Given the description of an element on the screen output the (x, y) to click on. 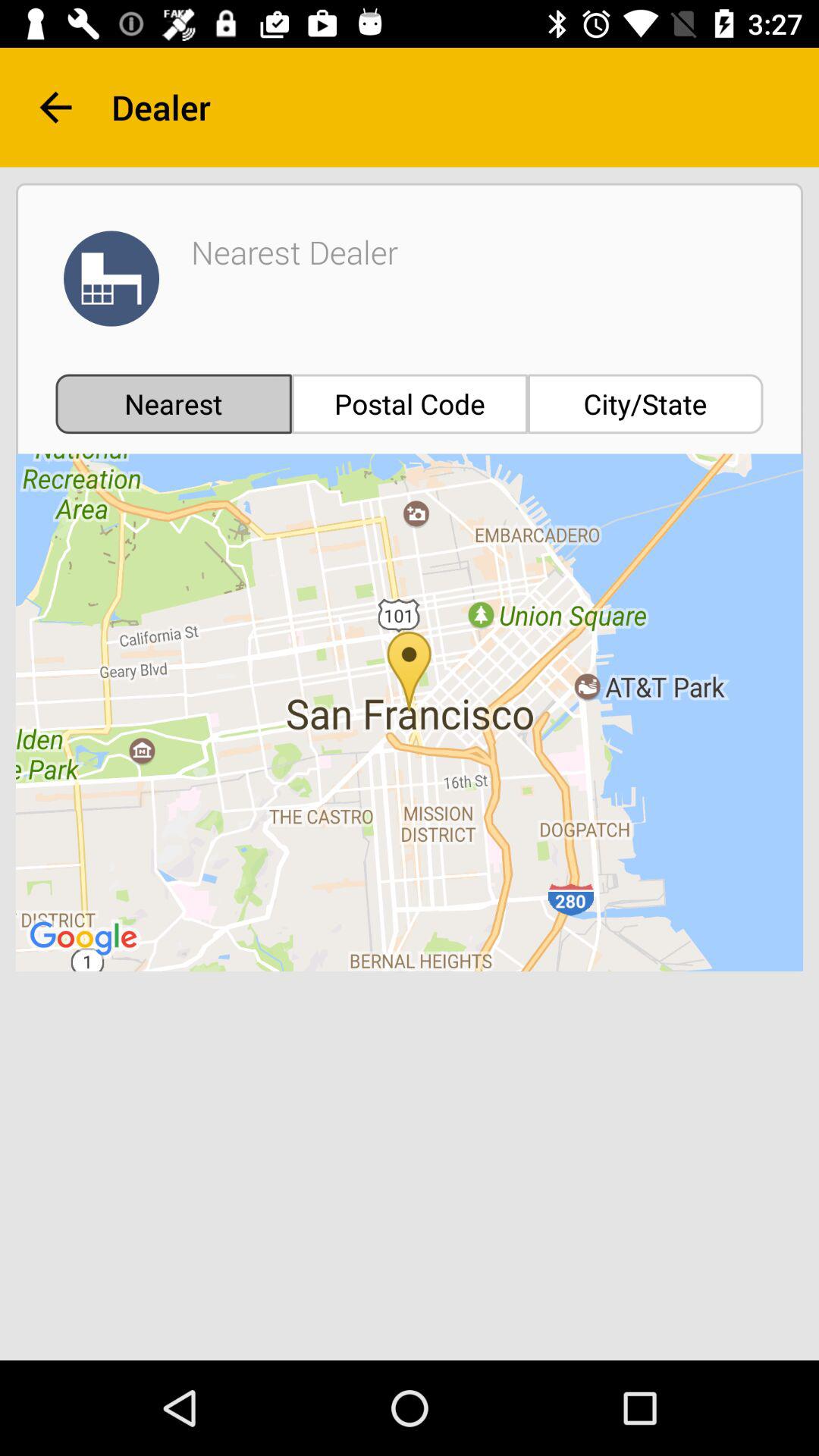
select icon to the left of city/state icon (409, 403)
